Given the description of an element on the screen output the (x, y) to click on. 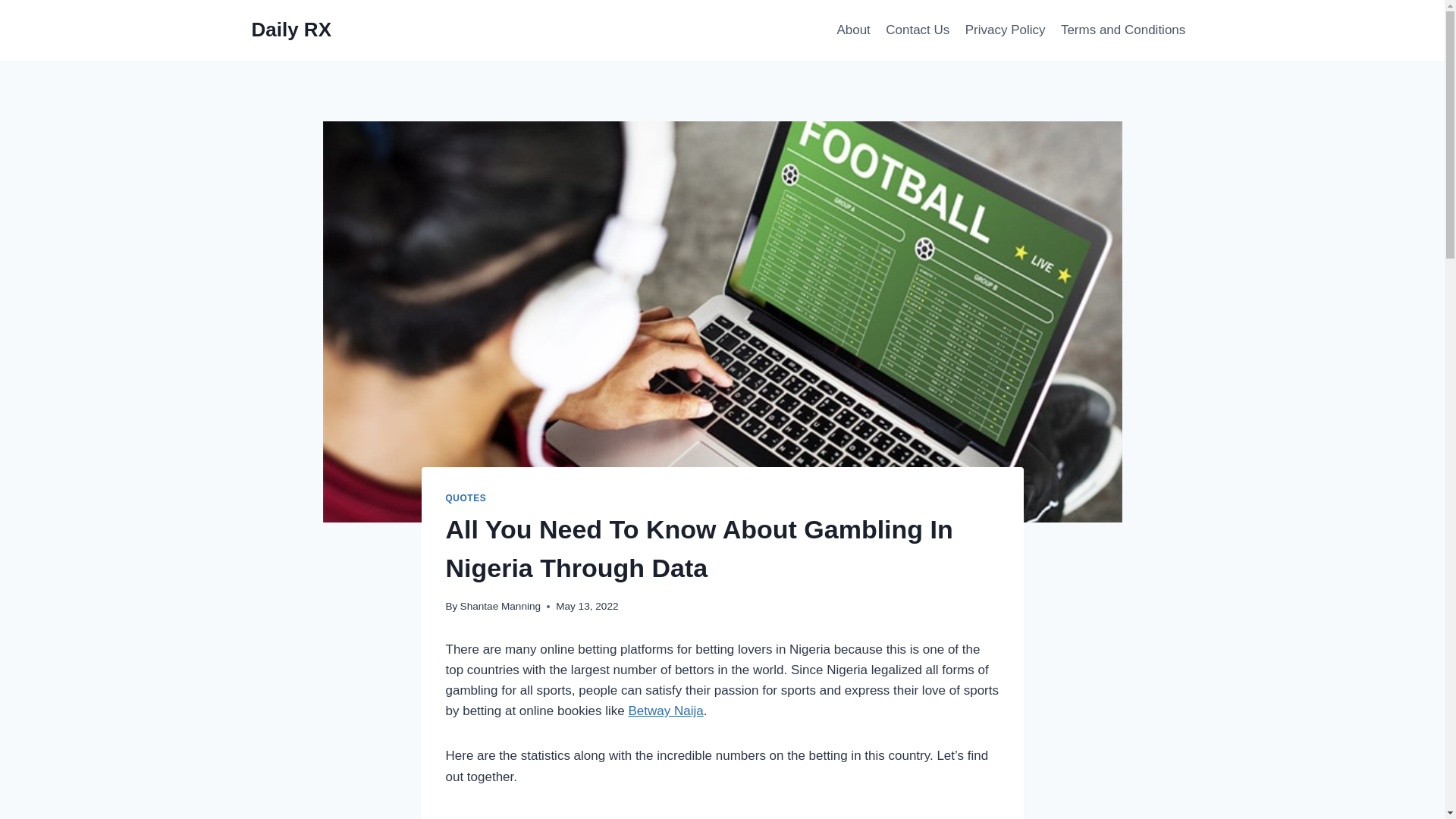
Privacy Policy (1005, 30)
Contact Us (916, 30)
Contact Us (916, 30)
Shantae Manning (500, 605)
QUOTES (465, 498)
About (852, 30)
Shantae Manning (500, 605)
Privacy Policy (1005, 30)
Daily RX (291, 29)
Terms and Conditions (1122, 30)
